Given the description of an element on the screen output the (x, y) to click on. 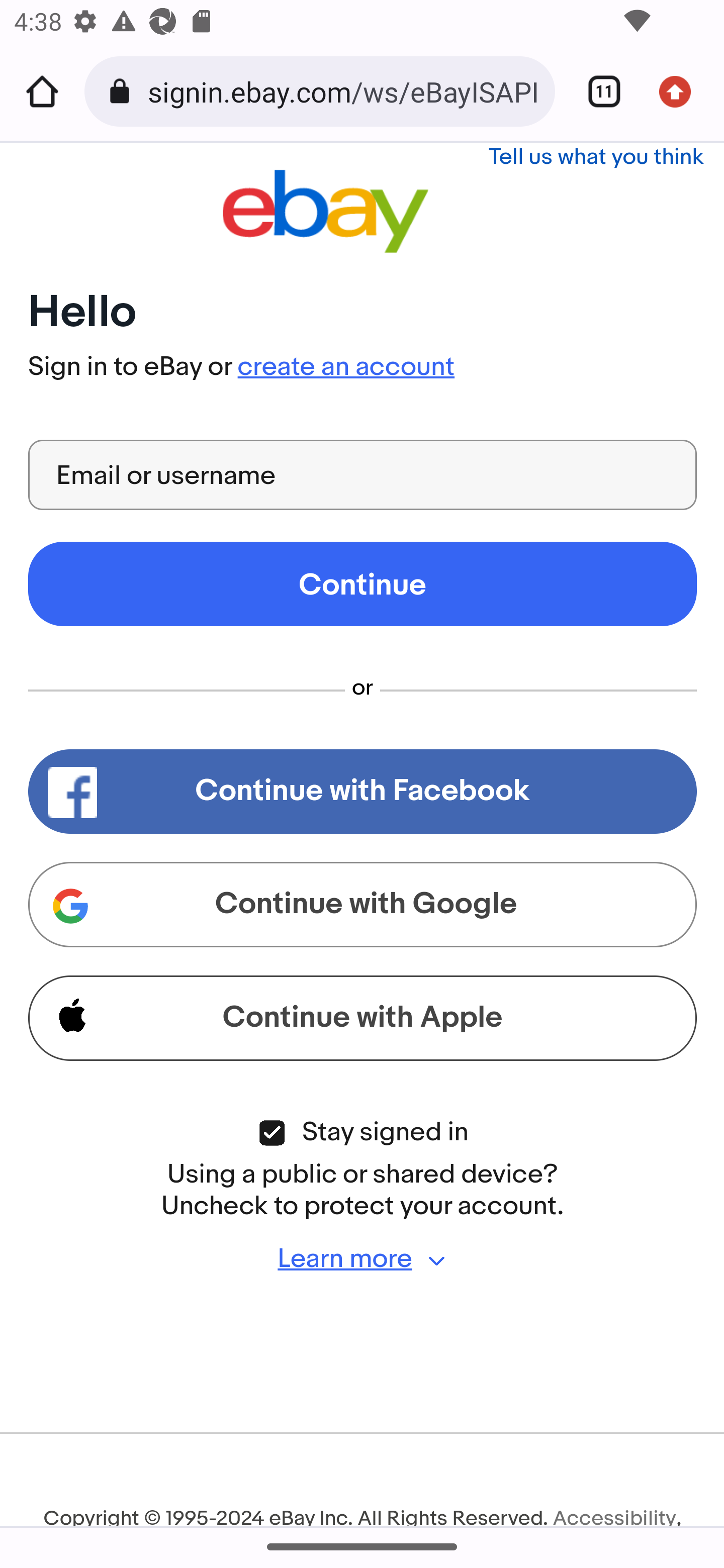
Home (42, 91)
Connection is secure (122, 91)
Switch or close tabs (597, 91)
Update available. More options (681, 91)
eBay Home (325, 211)
create an account (345, 367)
Continue (363, 583)
Continue with Facebook (363, 792)
Continue with Google (363, 904)
Continue with Apple (363, 1018)
Stay signed in (271, 1133)
Learn more (363, 1259)
Accessibility (614, 1516)
